Given the description of an element on the screen output the (x, y) to click on. 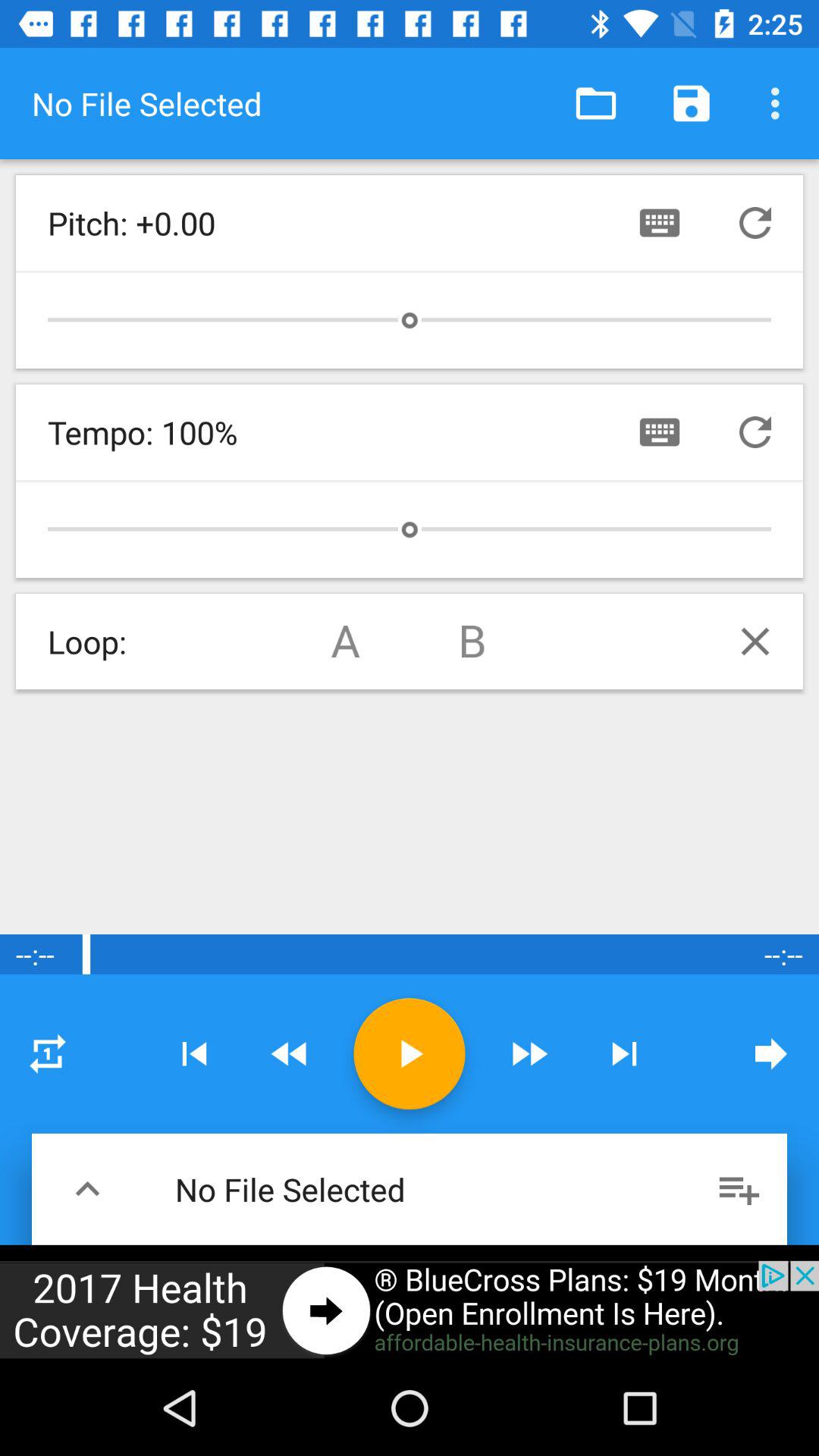
enter text (659, 432)
